Given the description of an element on the screen output the (x, y) to click on. 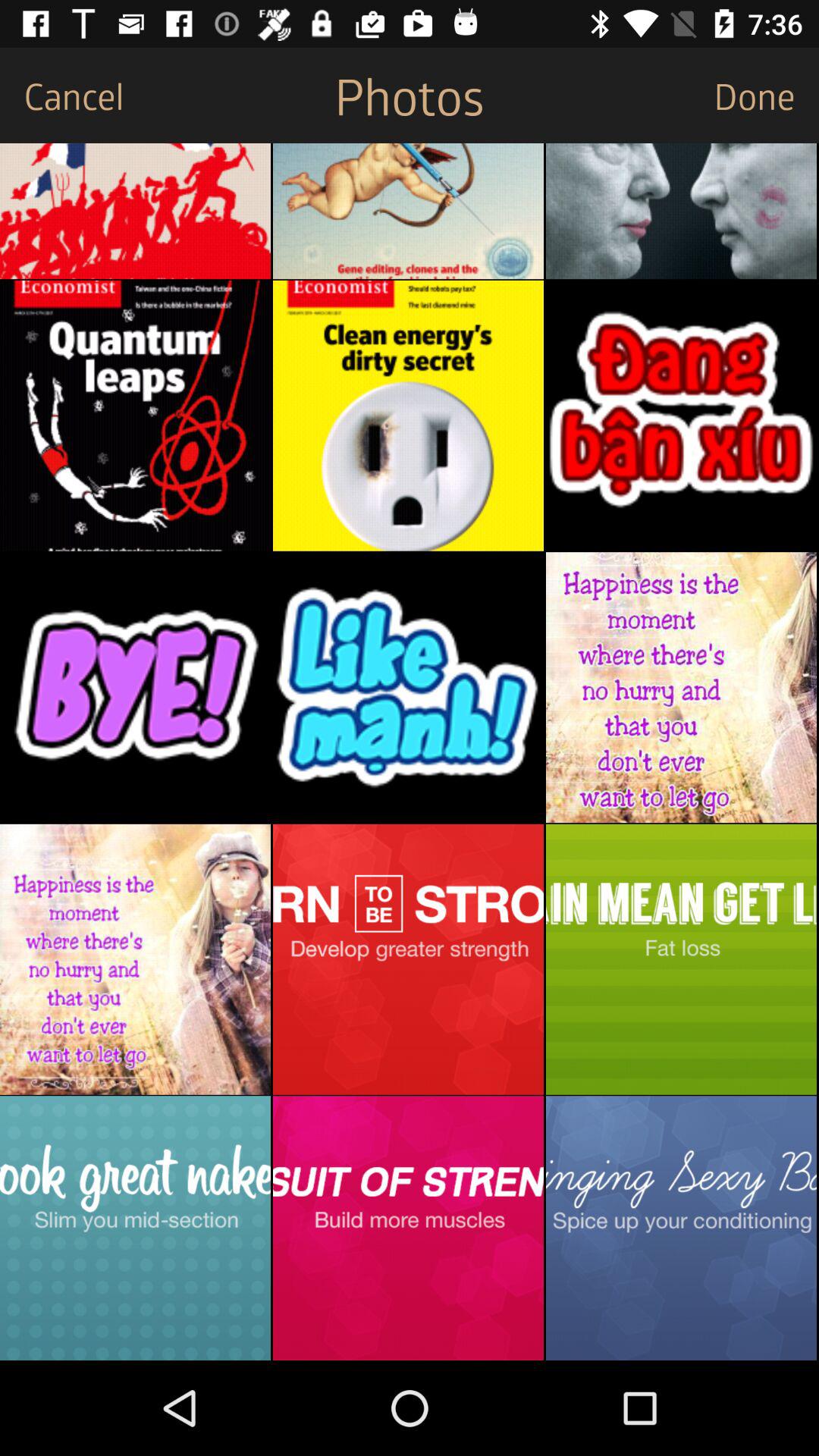
view image (681, 1227)
